Given the description of an element on the screen output the (x, y) to click on. 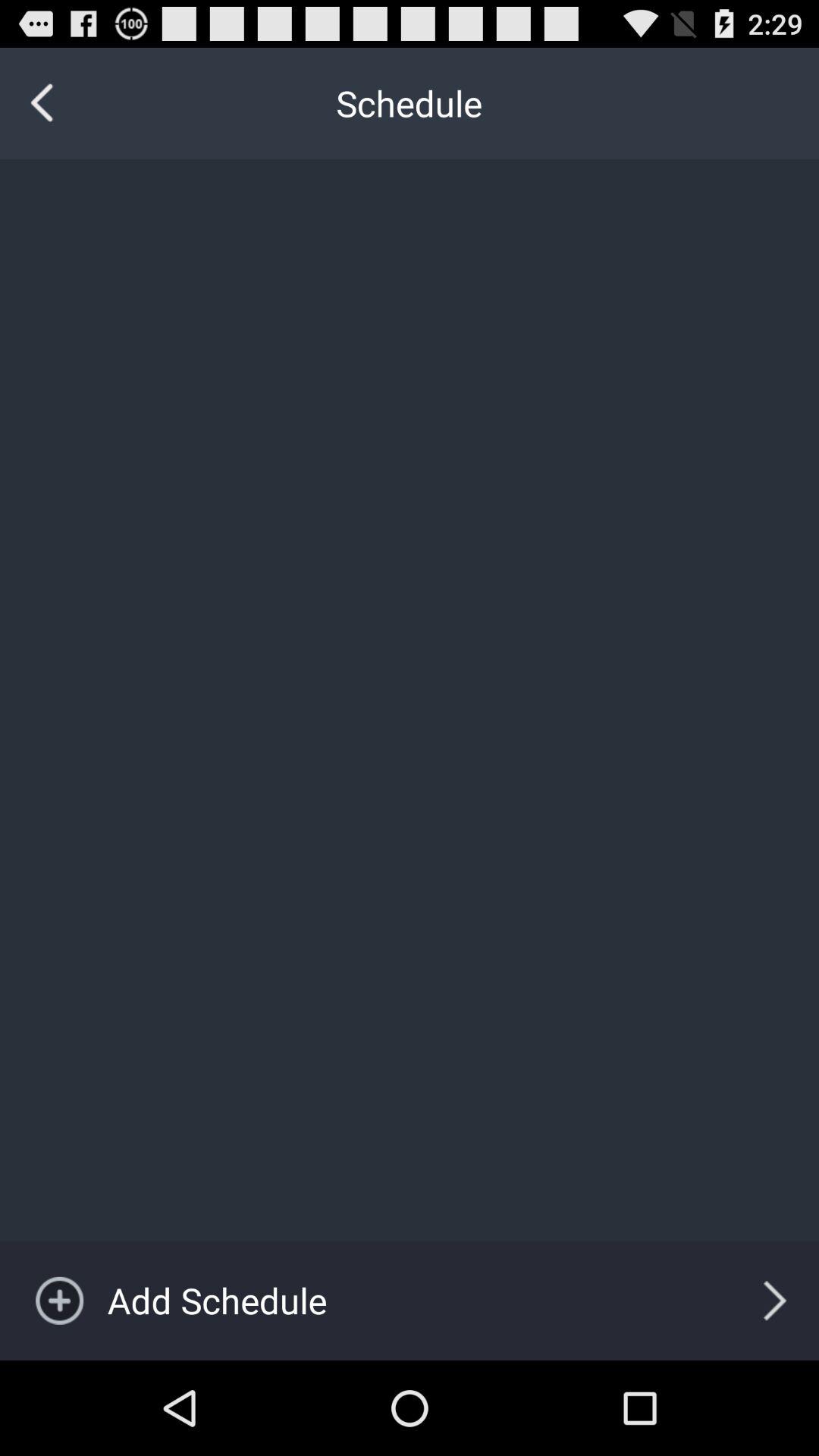
select item at the top left corner (42, 103)
